Given the description of an element on the screen output the (x, y) to click on. 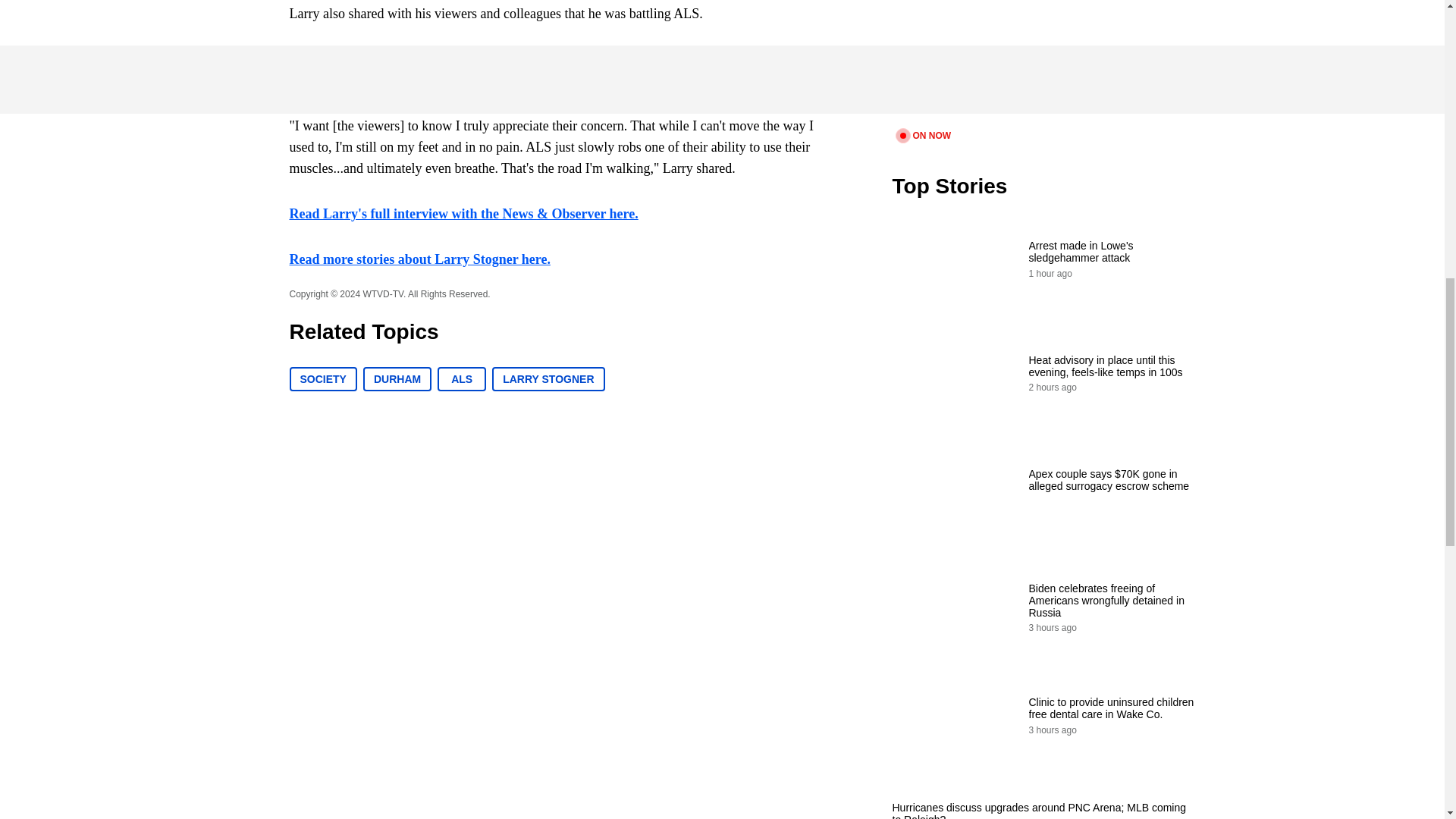
video.title (1043, 62)
